Given the description of an element on the screen output the (x, y) to click on. 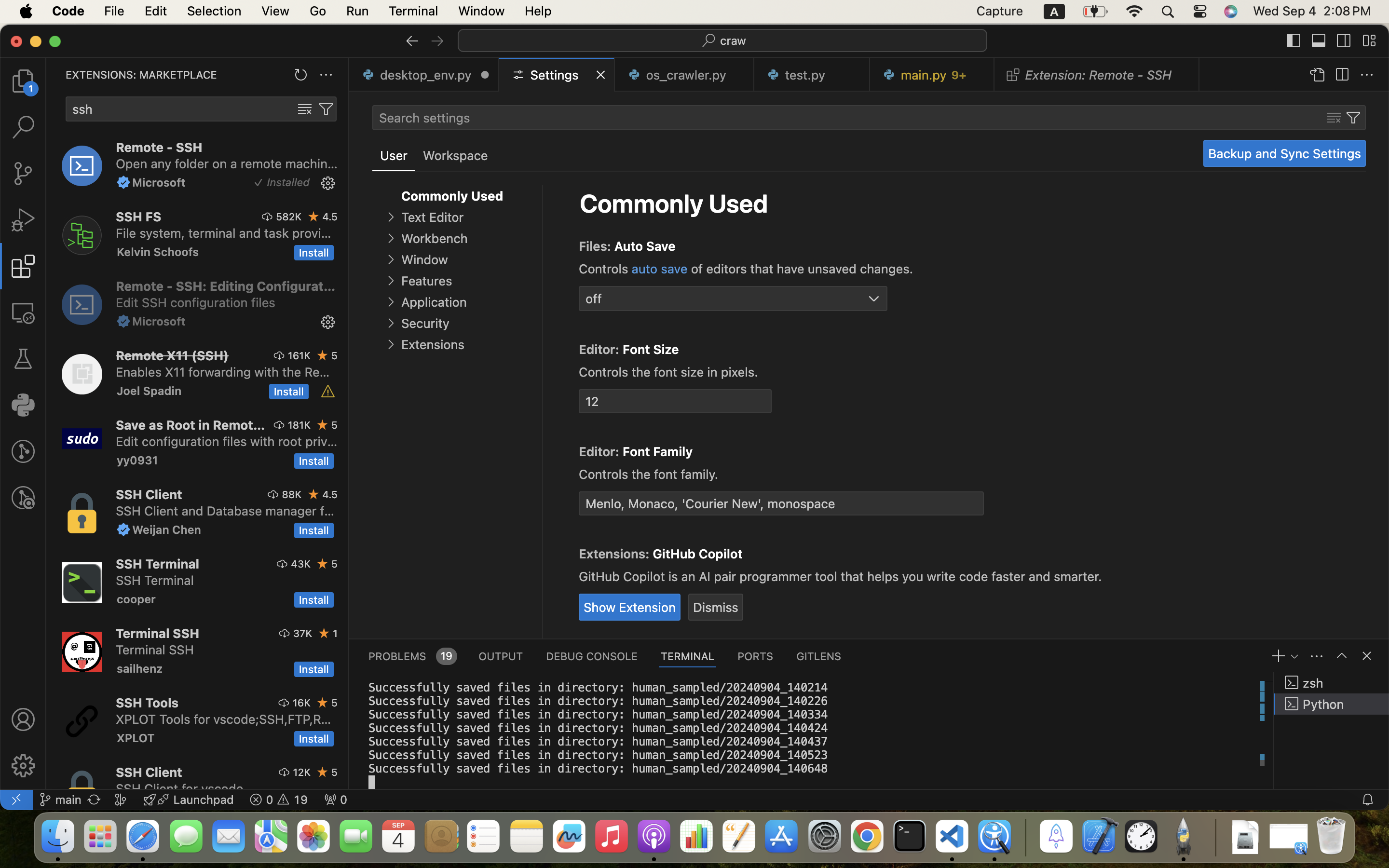
1 Element type: AXRadioButton (393, 155)
SSH Tools Element type: AXStaticText (147, 702)
0 Extension: Remote - SSH   Element type: AXRadioButton (1096, 74)
4.5 Element type: AXStaticText (329, 216)
 0 Element type: AXButton (335, 799)
